Given the description of an element on the screen output the (x, y) to click on. 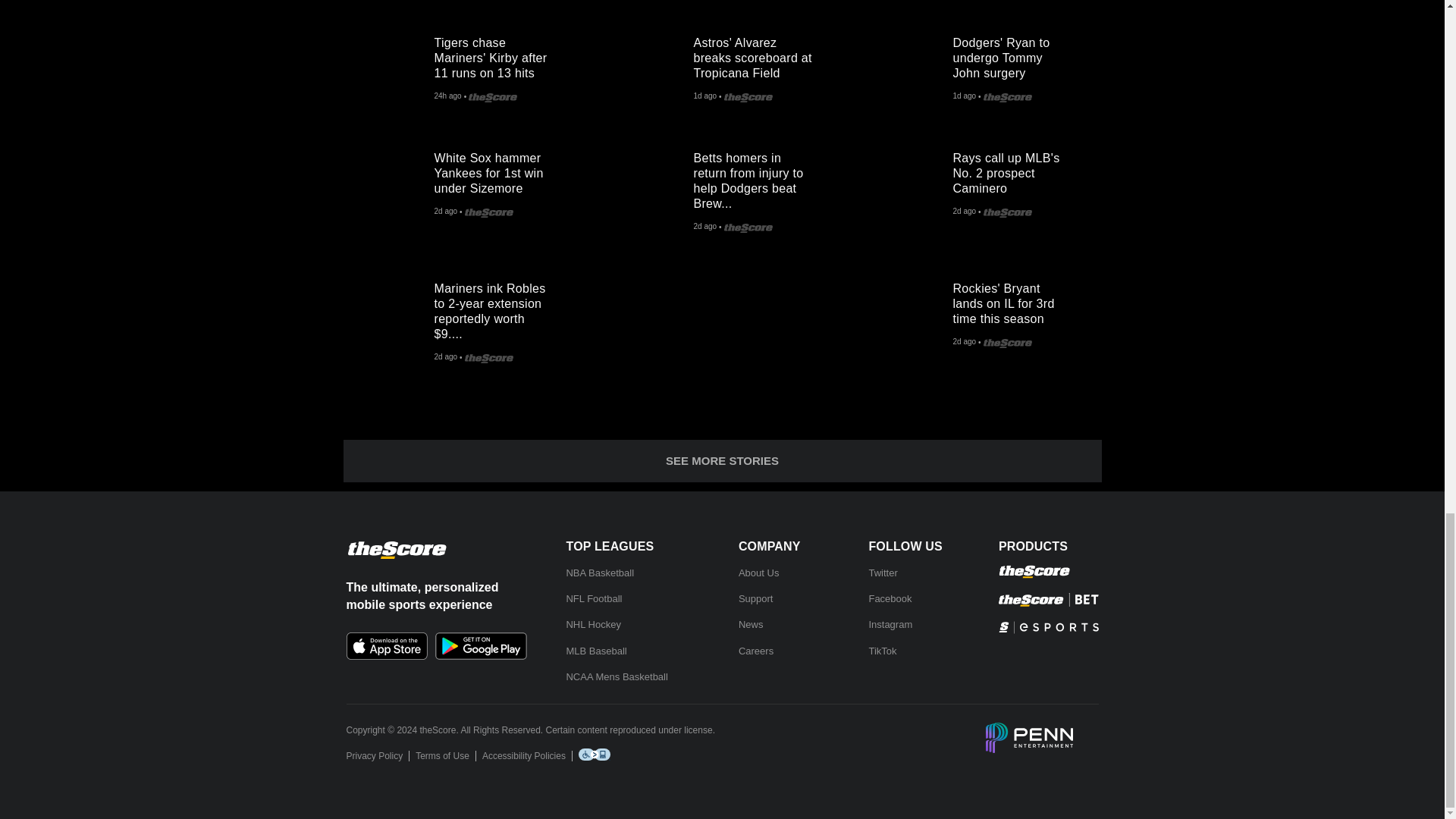
2024-08-13T23:40:24.000Z (704, 96)
2024-08-14T00:14:30.000Z (447, 96)
Astros' Alvarez breaks scoreboard at Tropicana Field (647, 69)
Tigers chase Mariners' Kirby after 11 runs on 13 hits  (388, 69)
Dodgers' Ryan to undergo Tommy John surgery (906, 69)
